Given the description of an element on the screen output the (x, y) to click on. 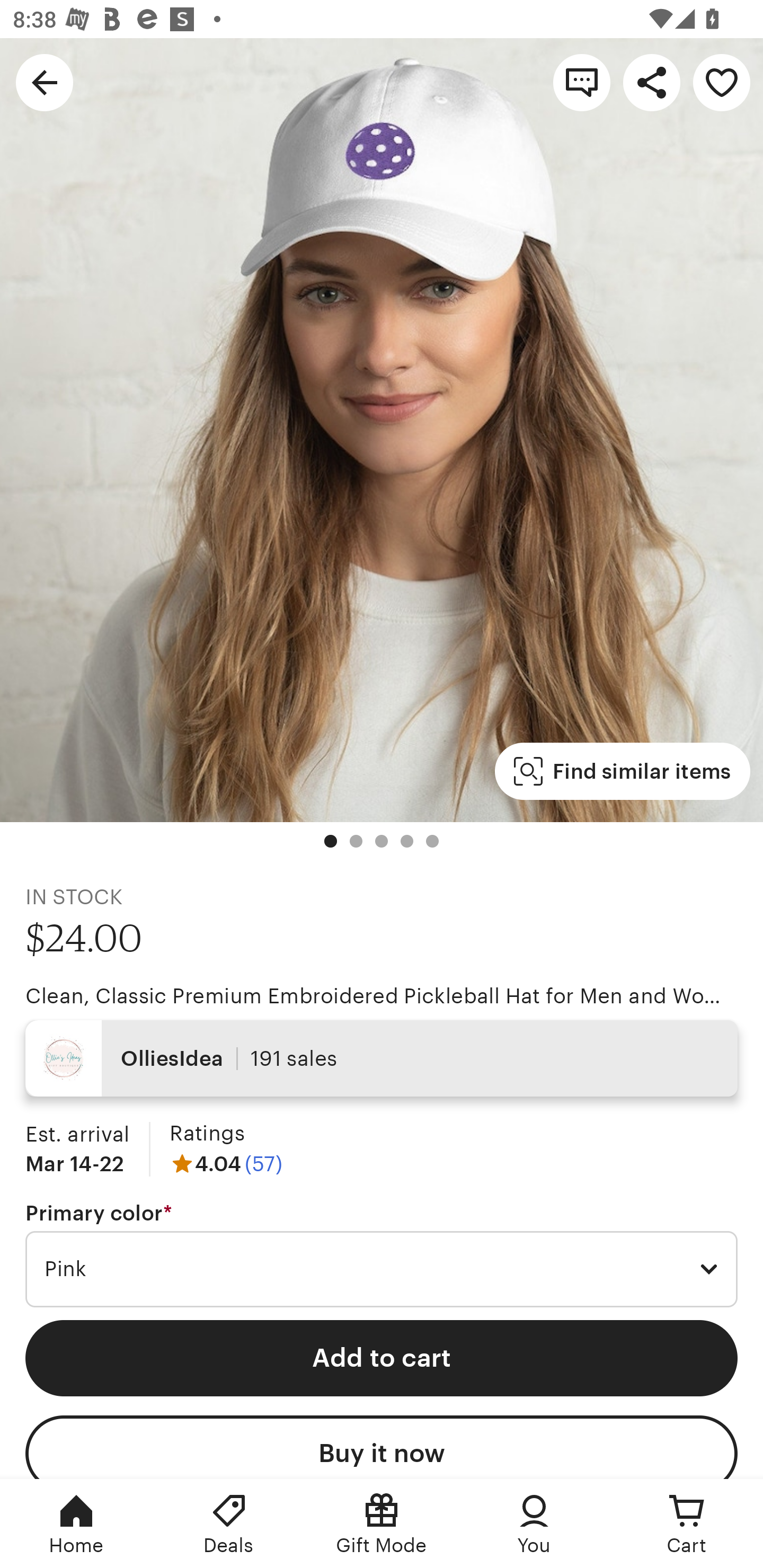
Navigate up (44, 81)
Contact shop (581, 81)
Share (651, 81)
Find similar items (622, 771)
OlliesIdea 191 sales (381, 1058)
Ratings (206, 1133)
4.04 (57) (226, 1163)
Primary color * Required Pink (381, 1254)
Pink (381, 1268)
Add to cart (381, 1358)
Buy it now (381, 1446)
Deals (228, 1523)
Gift Mode (381, 1523)
You (533, 1523)
Cart (686, 1523)
